Given the description of an element on the screen output the (x, y) to click on. 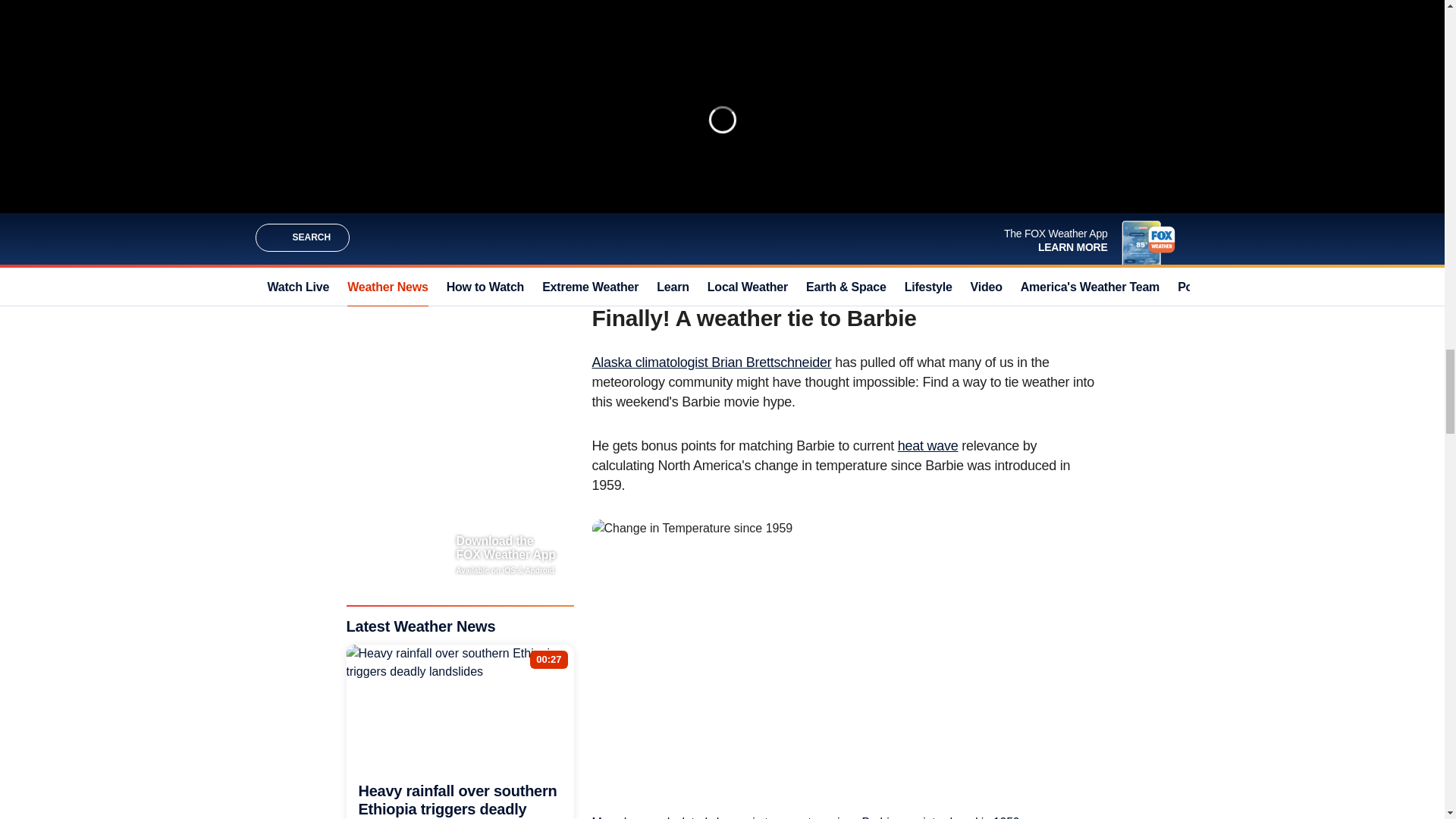
Alaska climatologist Brian Brettschneider (711, 362)
Utqiagvik (842, 100)
heat wave (928, 445)
Alaska (895, 100)
